Given the description of an element on the screen output the (x, y) to click on. 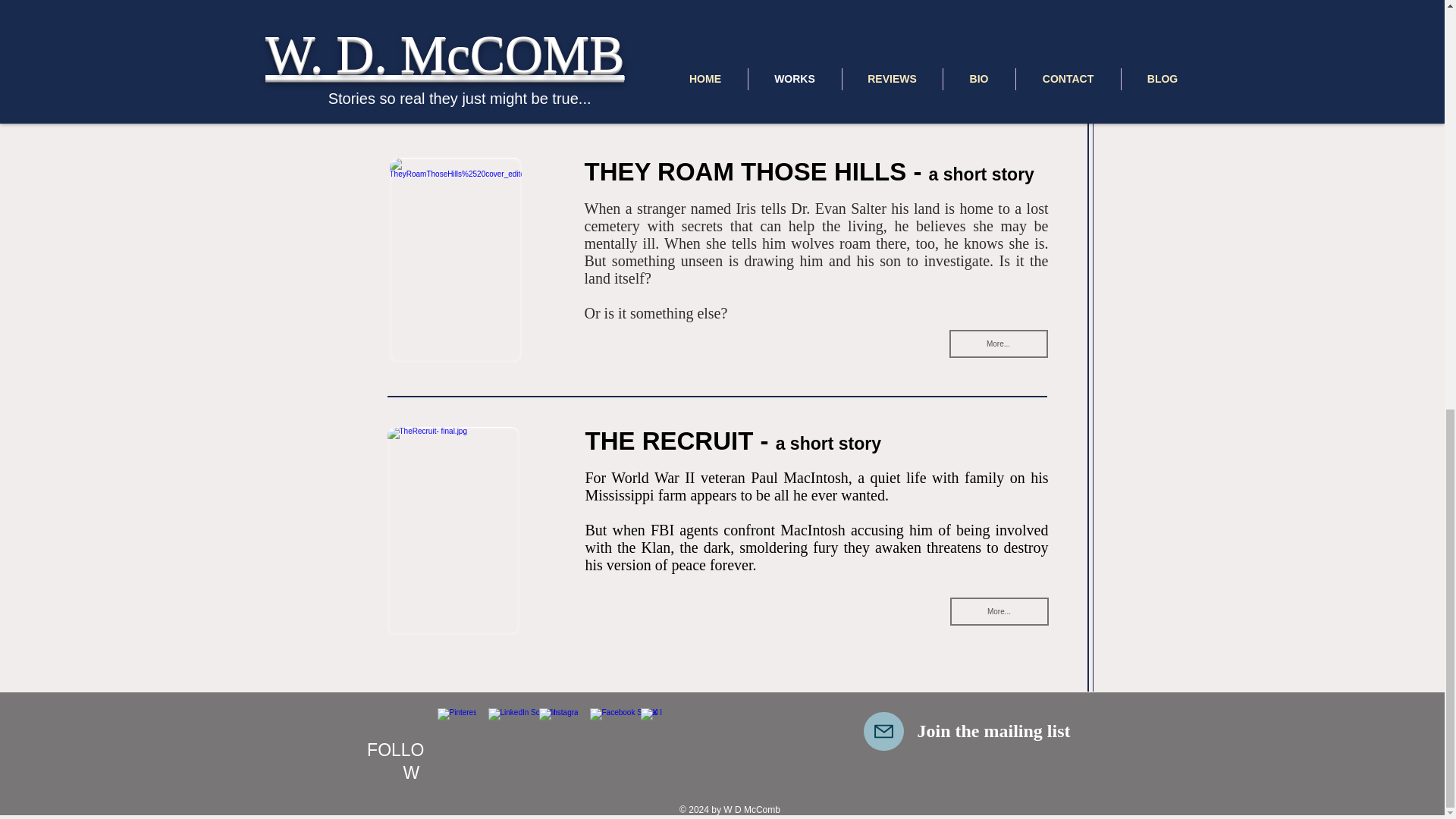
More... (998, 343)
More... (998, 70)
Join the mailing list (993, 731)
More... (998, 611)
